Given the description of an element on the screen output the (x, y) to click on. 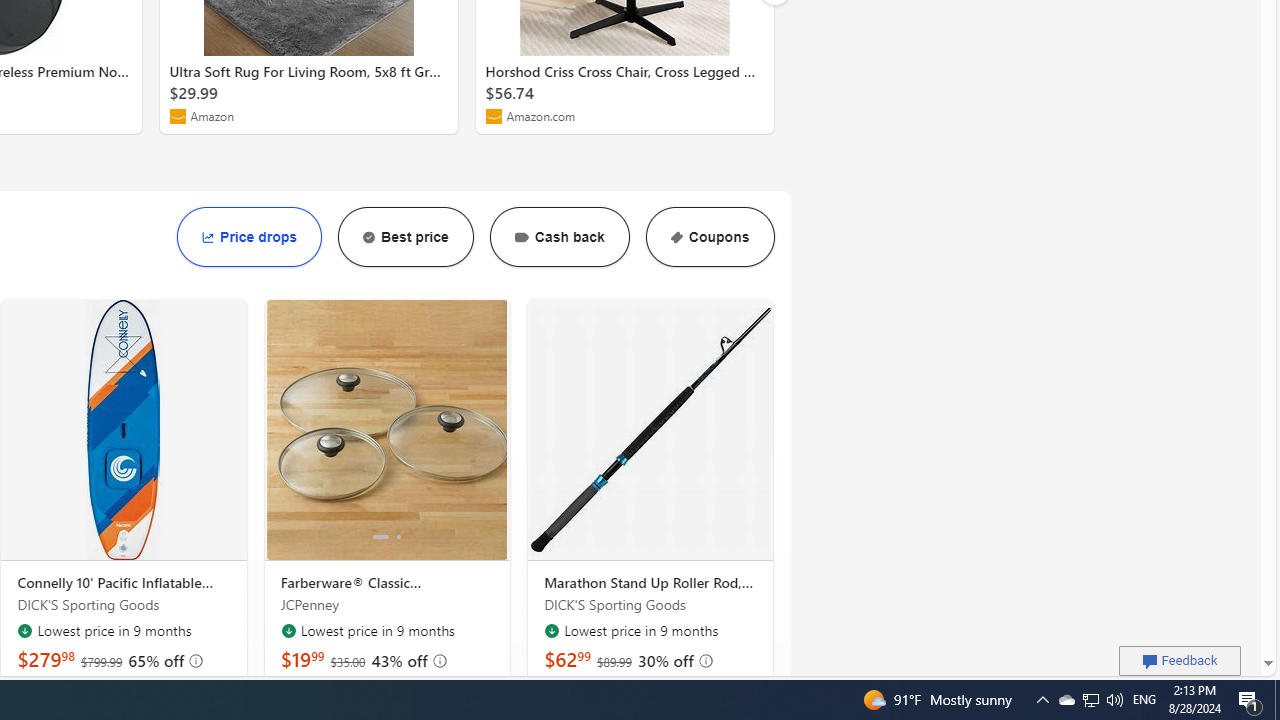
sh-button-icon Coupons (709, 237)
Marathon Stand Up Roller Rod, Aluminum (650, 430)
Feedback (1179, 660)
sh-button-icon Cash back (558, 237)
sh-button-icon (676, 236)
Marathon Stand Up Roller Rod, Aluminum (650, 583)
info (704, 660)
Lowest price in 9 months (552, 630)
sh-button-icon Price drops (249, 237)
sh-button-icon Best price (405, 237)
